Given the description of an element on the screen output the (x, y) to click on. 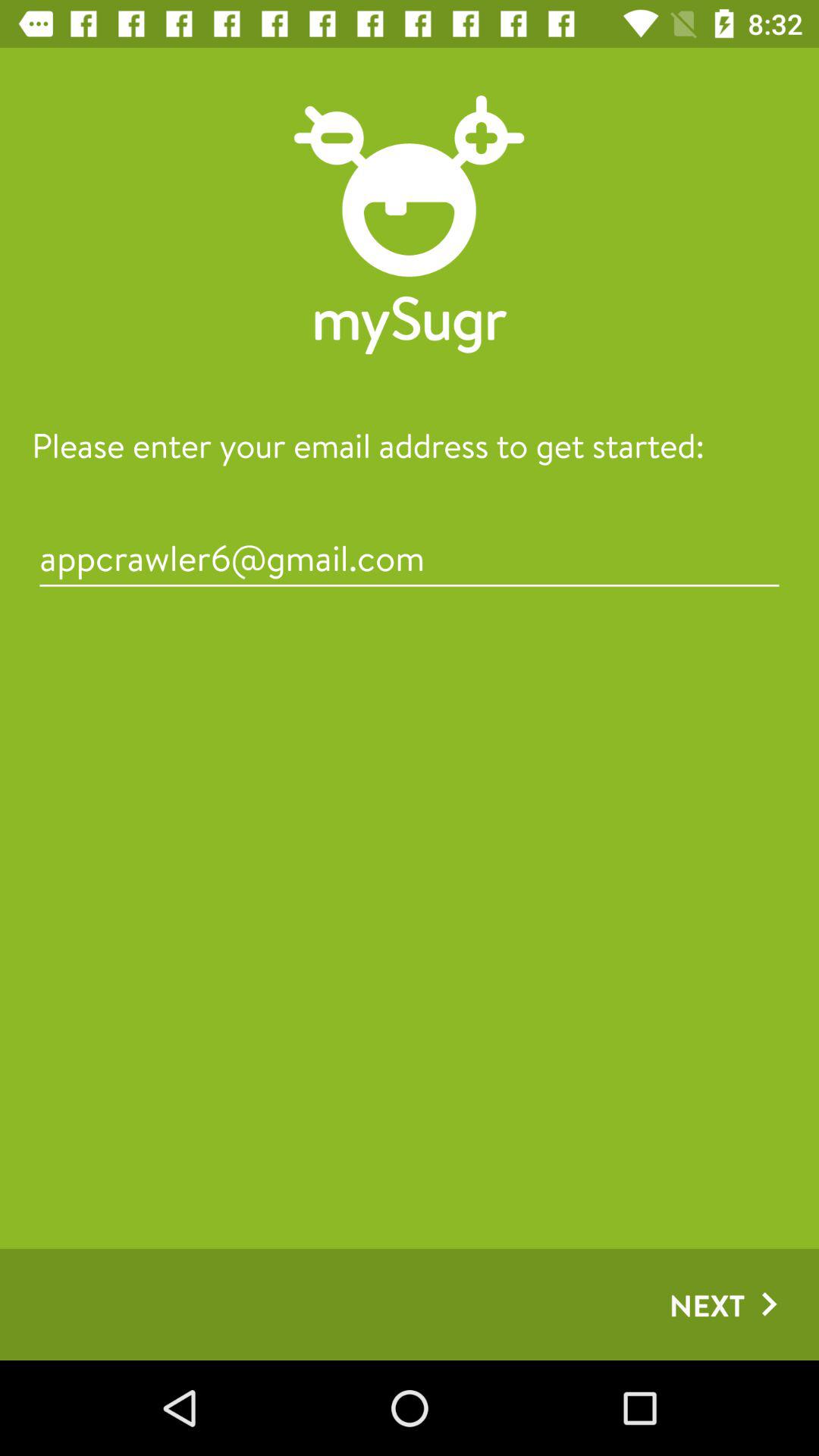
click icon above next (409, 557)
